Given the description of an element on the screen output the (x, y) to click on. 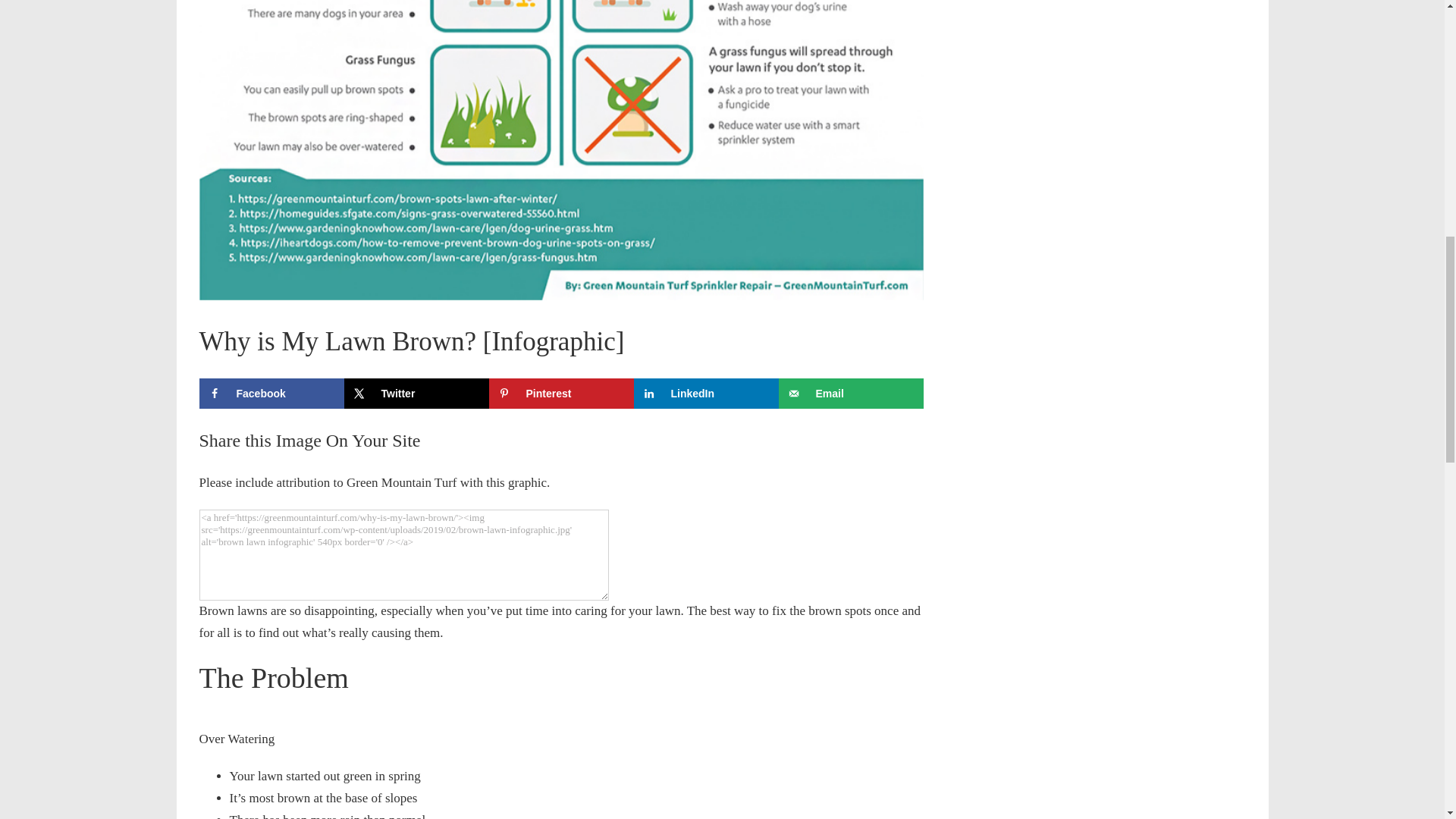
Email (850, 393)
Twitter (416, 393)
Share on LinkedIn (705, 393)
Pinterest (560, 393)
Save to Pinterest (560, 393)
Share on X (416, 393)
Send over email (850, 393)
Share on Facebook (270, 393)
LinkedIn (705, 393)
